Given the description of an element on the screen output the (x, y) to click on. 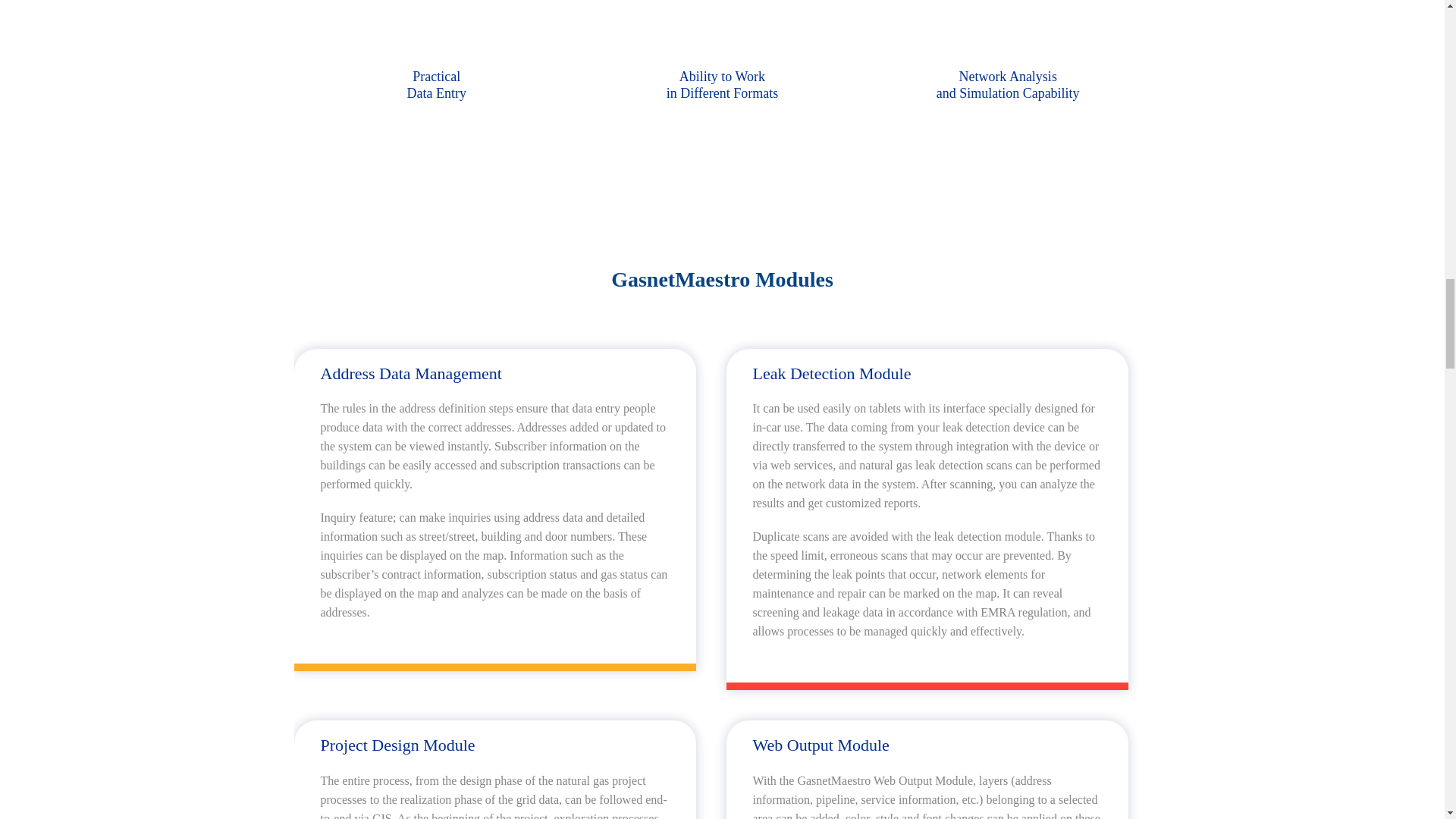
doabis-pratik-veri-girisi (436, 2)
doabis-network-analizi-ve-simulasyon-yetenegi (1007, 2)
